Given the description of an element on the screen output the (x, y) to click on. 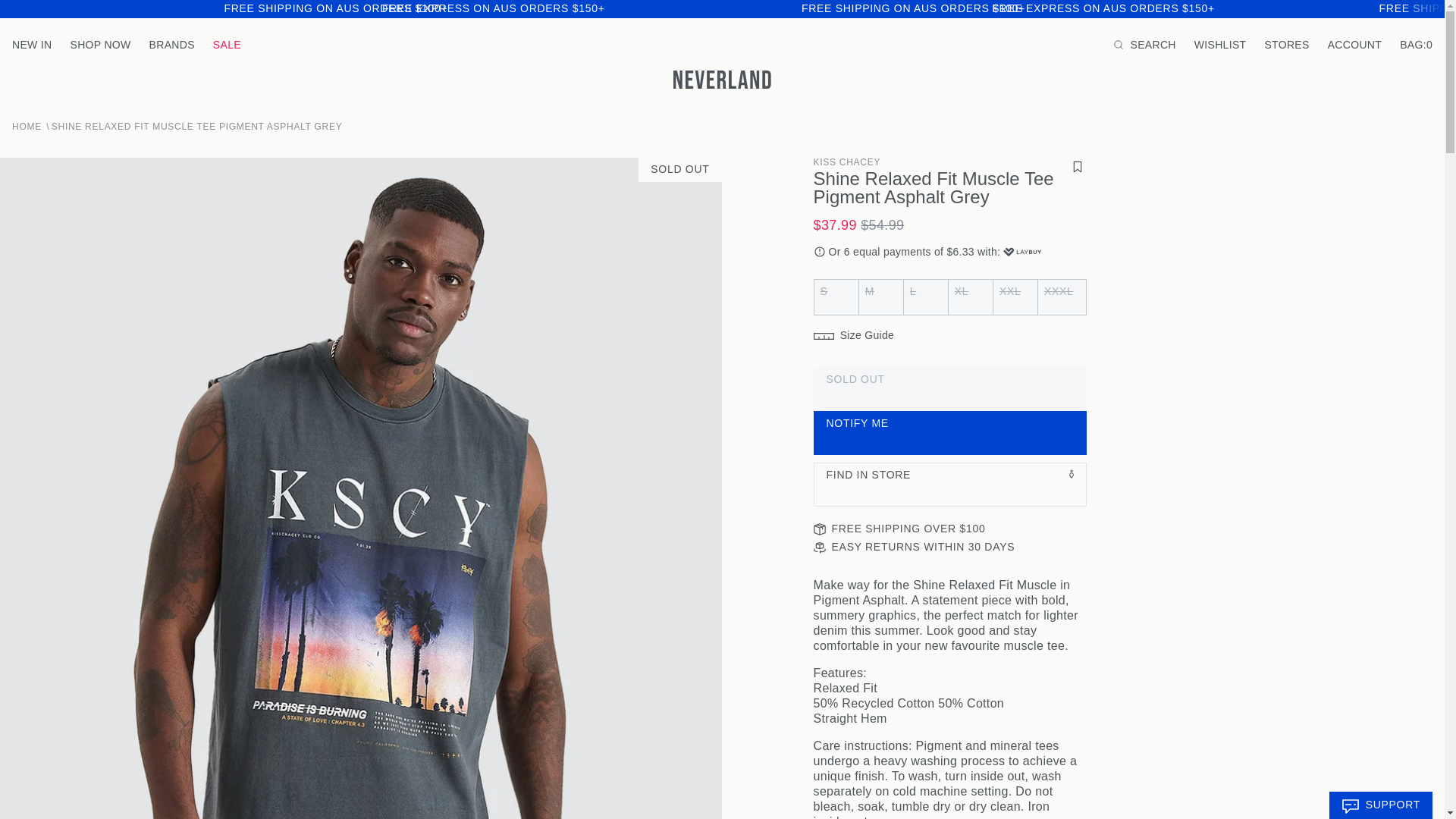
M (821, 286)
SHOP NOW (100, 44)
XXL (821, 286)
NEW IN (30, 44)
Shipping Policy (913, 8)
S (821, 286)
L (821, 286)
Shipping Policy (335, 8)
XXXL (821, 286)
Pigment Asphalt (821, 277)
XL (821, 286)
